Given the description of an element on the screen output the (x, y) to click on. 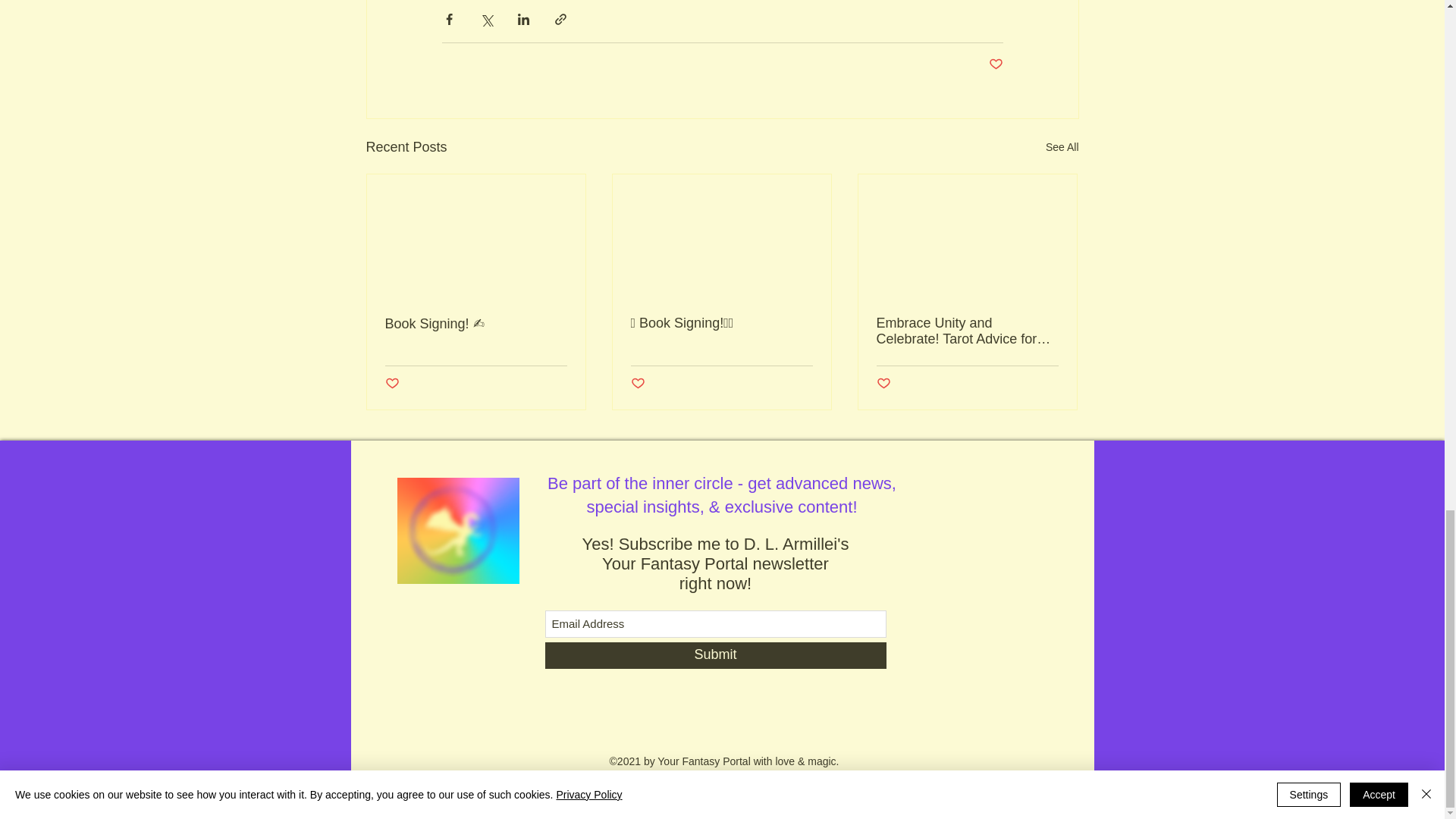
See All (1061, 147)
Post not marked as liked (995, 64)
Post not marked as liked (391, 383)
Post not marked as liked (637, 383)
